Given the description of an element on the screen output the (x, y) to click on. 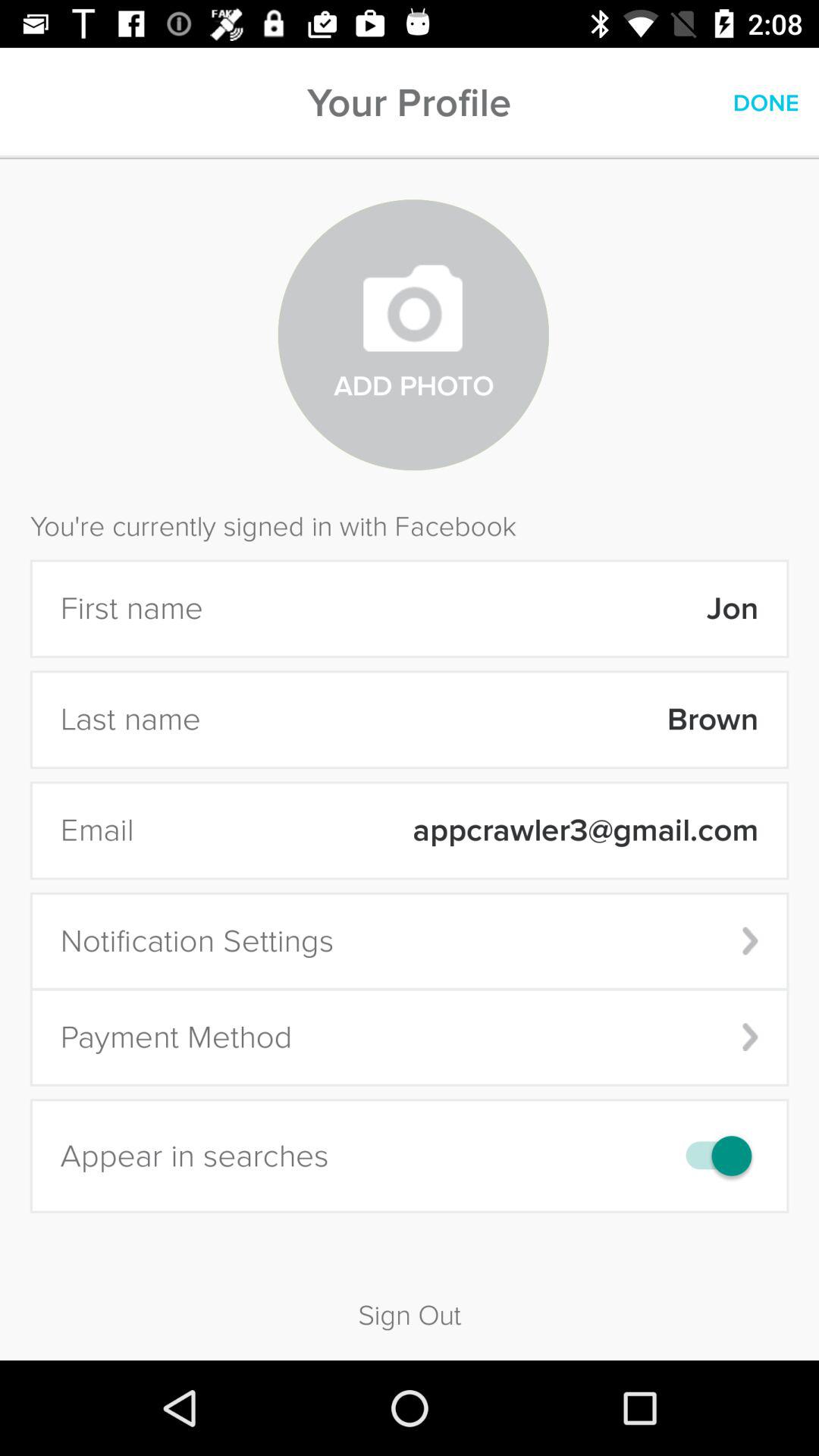
press the jon (490, 608)
